Given the description of an element on the screen output the (x, y) to click on. 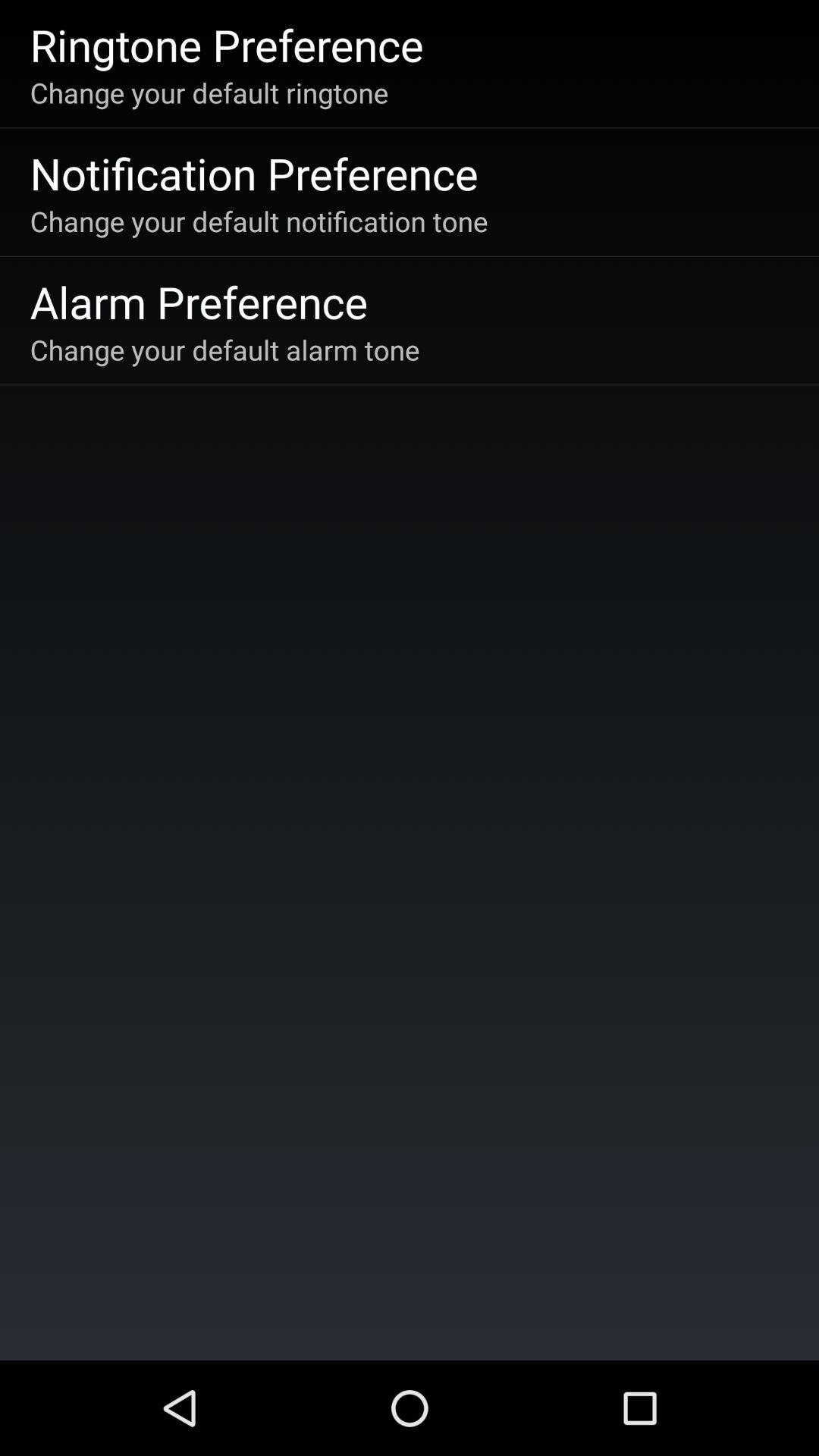
launch notification preference icon (254, 172)
